Given the description of an element on the screen output the (x, y) to click on. 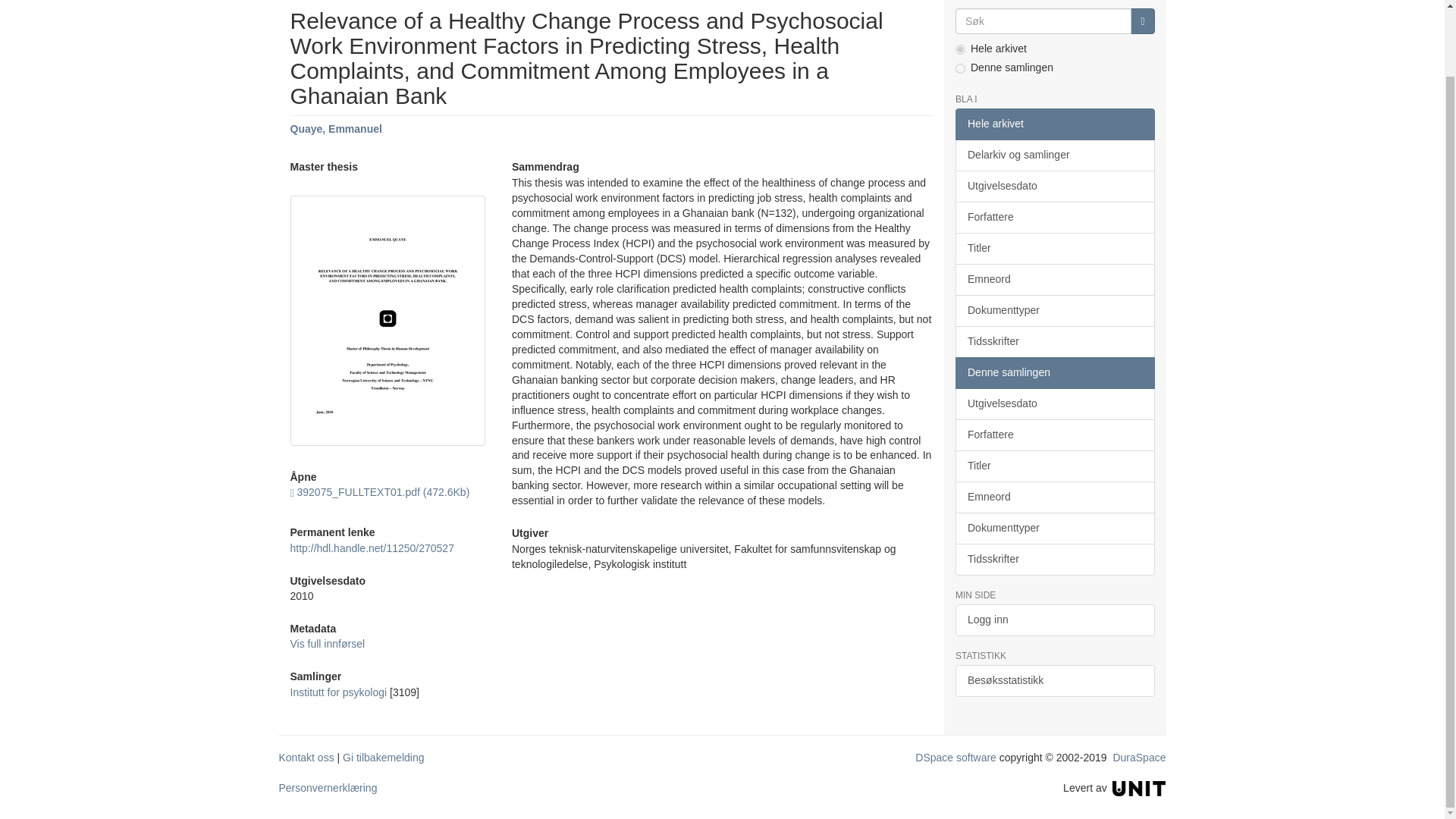
Forfattere (1054, 217)
Tidsskrifter (1054, 341)
Utgivelsesdato (1054, 186)
Dokumenttyper (1054, 310)
Institutt for psykologi (338, 692)
Hele arkivet (1054, 124)
Delarkiv og samlinger (1054, 155)
Titler (1054, 248)
Unit (1139, 787)
Emneord (1054, 279)
